Given the description of an element on the screen output the (x, y) to click on. 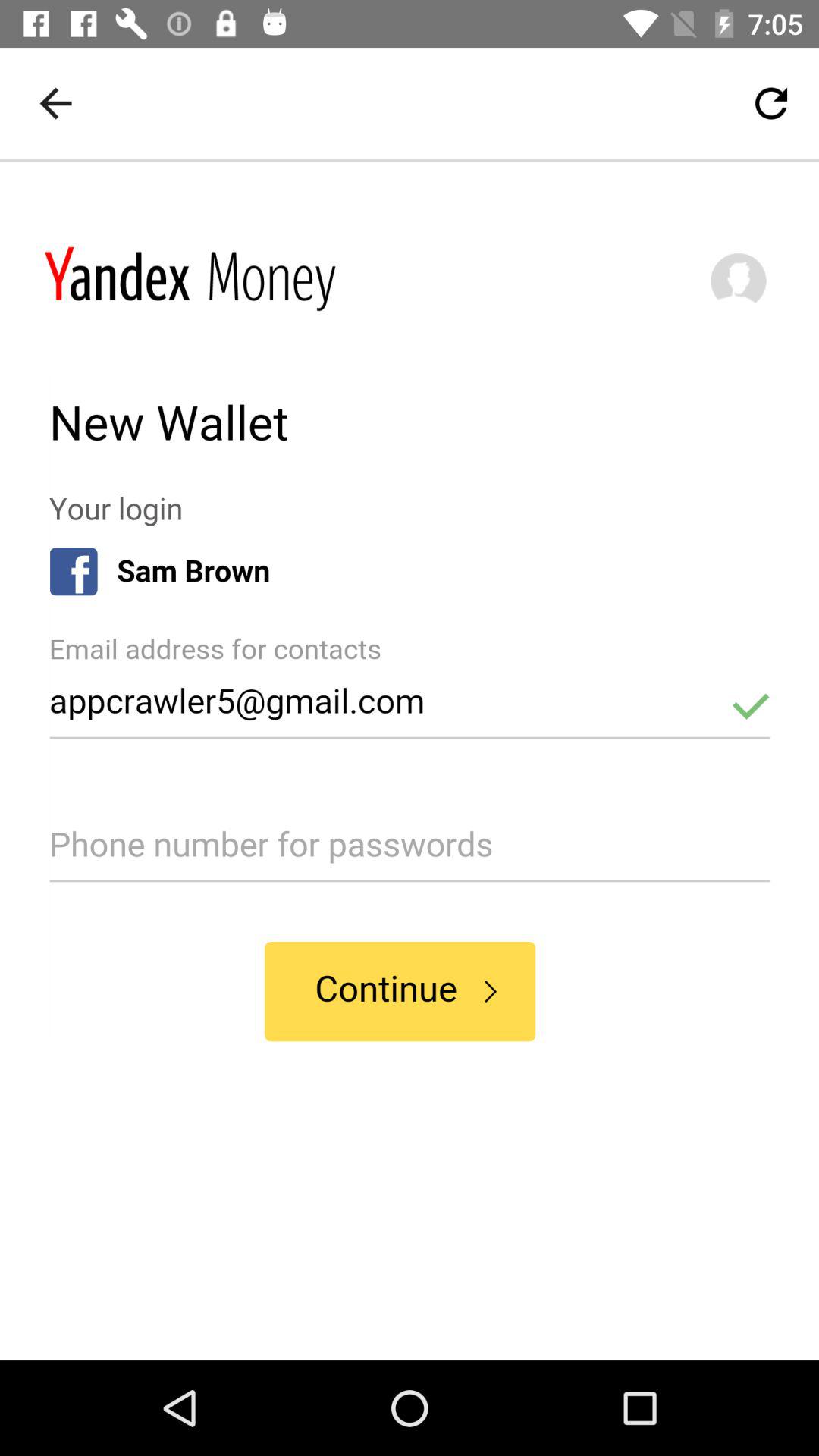
creat new account (409, 760)
